Given the description of an element on the screen output the (x, y) to click on. 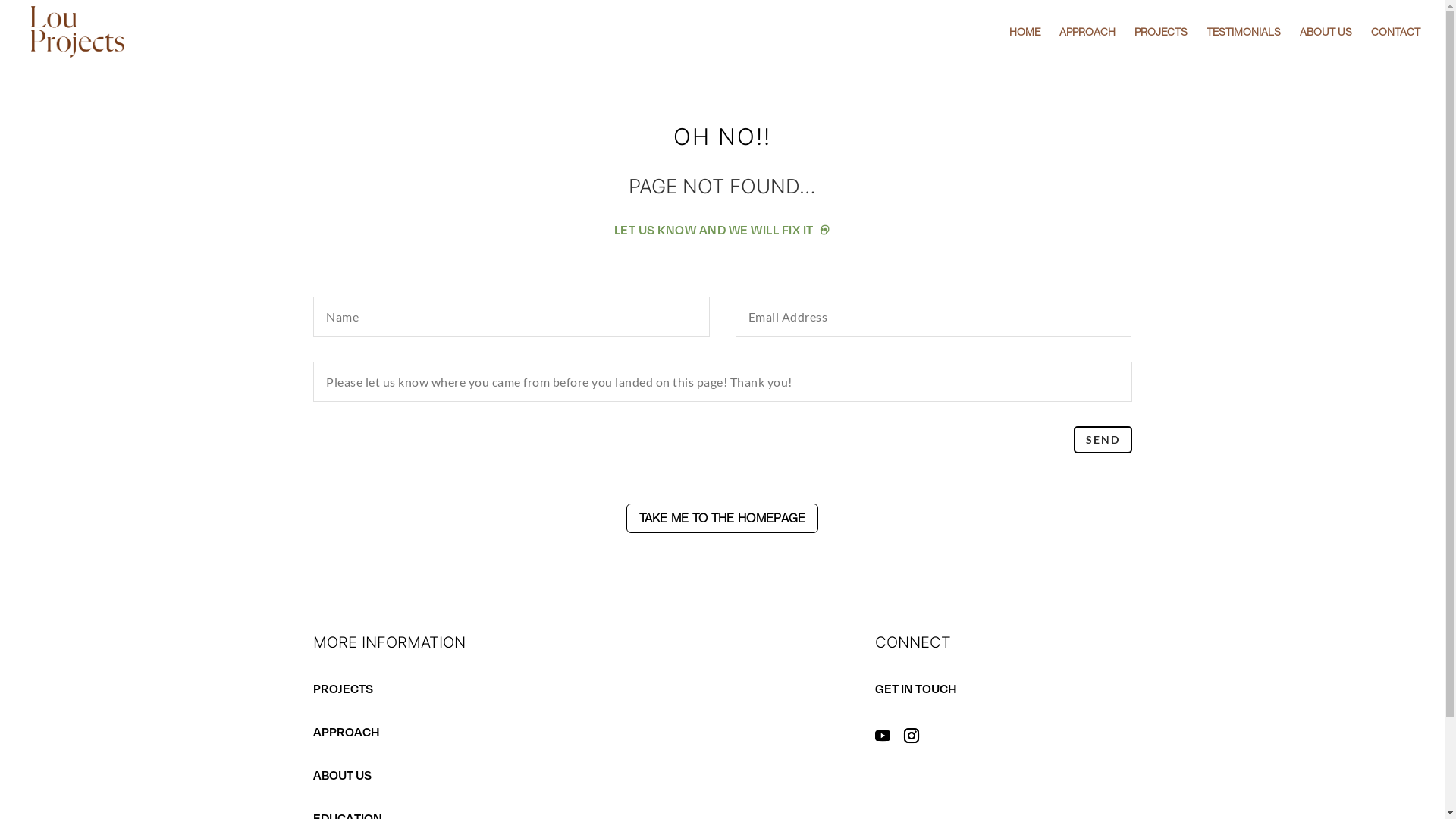
CONTACT Element type: text (1395, 44)
HOME Element type: text (1024, 44)
APPROACH Element type: text (1087, 44)
Follow on Youtube Element type: hover (882, 735)
ABOUT US Element type: text (1325, 44)
PROJECTS Element type: text (1160, 44)
TAKE ME TO THE HOMEPAGE Element type: text (722, 518)
Follow on Instagram Element type: hover (911, 735)
SEND Element type: text (1102, 439)
TESTIMONIALS Element type: text (1243, 44)
